Given the description of an element on the screen output the (x, y) to click on. 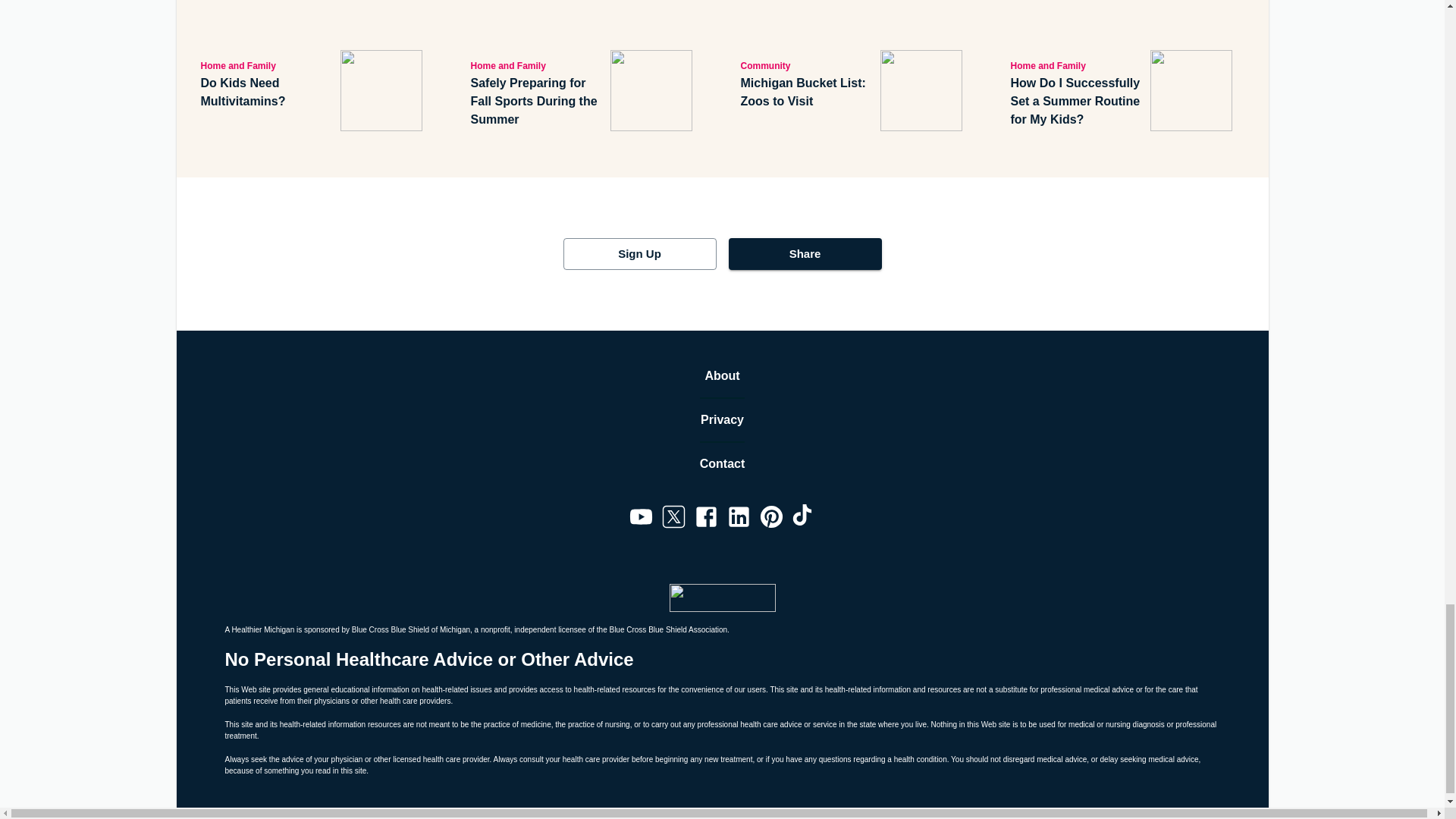
About (721, 375)
Share (804, 254)
Safely Preparing for Fall Sports During the Summer (537, 101)
Home and Family (537, 65)
Do Kids Need Multivitamins? (267, 92)
Contact (722, 464)
Sign Up (639, 254)
How Do I Successfully Set a Summer Routine for My Kids? (1077, 101)
Home and Family (1077, 65)
Michigan Bucket List: Zoos to Visit (807, 92)
Privacy (722, 420)
Community (807, 65)
Home and Family (267, 65)
